Given the description of an element on the screen output the (x, y) to click on. 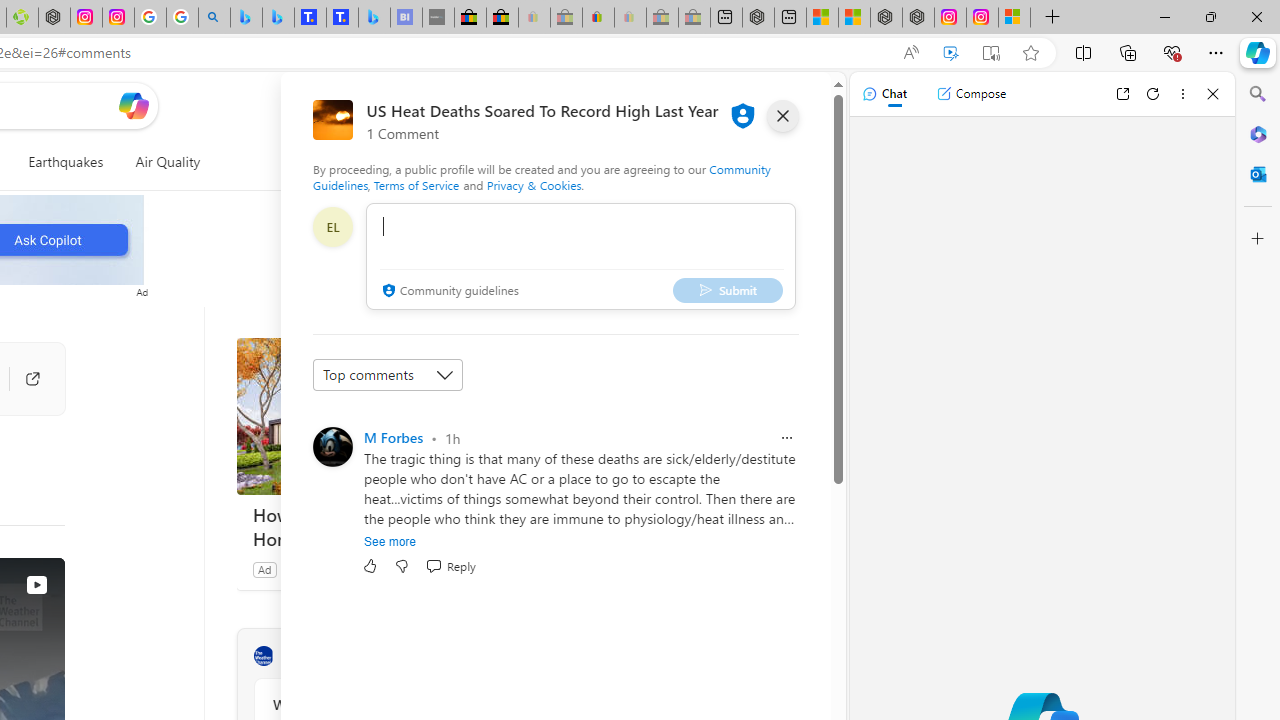
close (782, 115)
Threats and offensive language policy | eBay (598, 17)
View on Watch (36, 585)
Compose (971, 93)
Enhance video (950, 53)
